Given the description of an element on the screen output the (x, y) to click on. 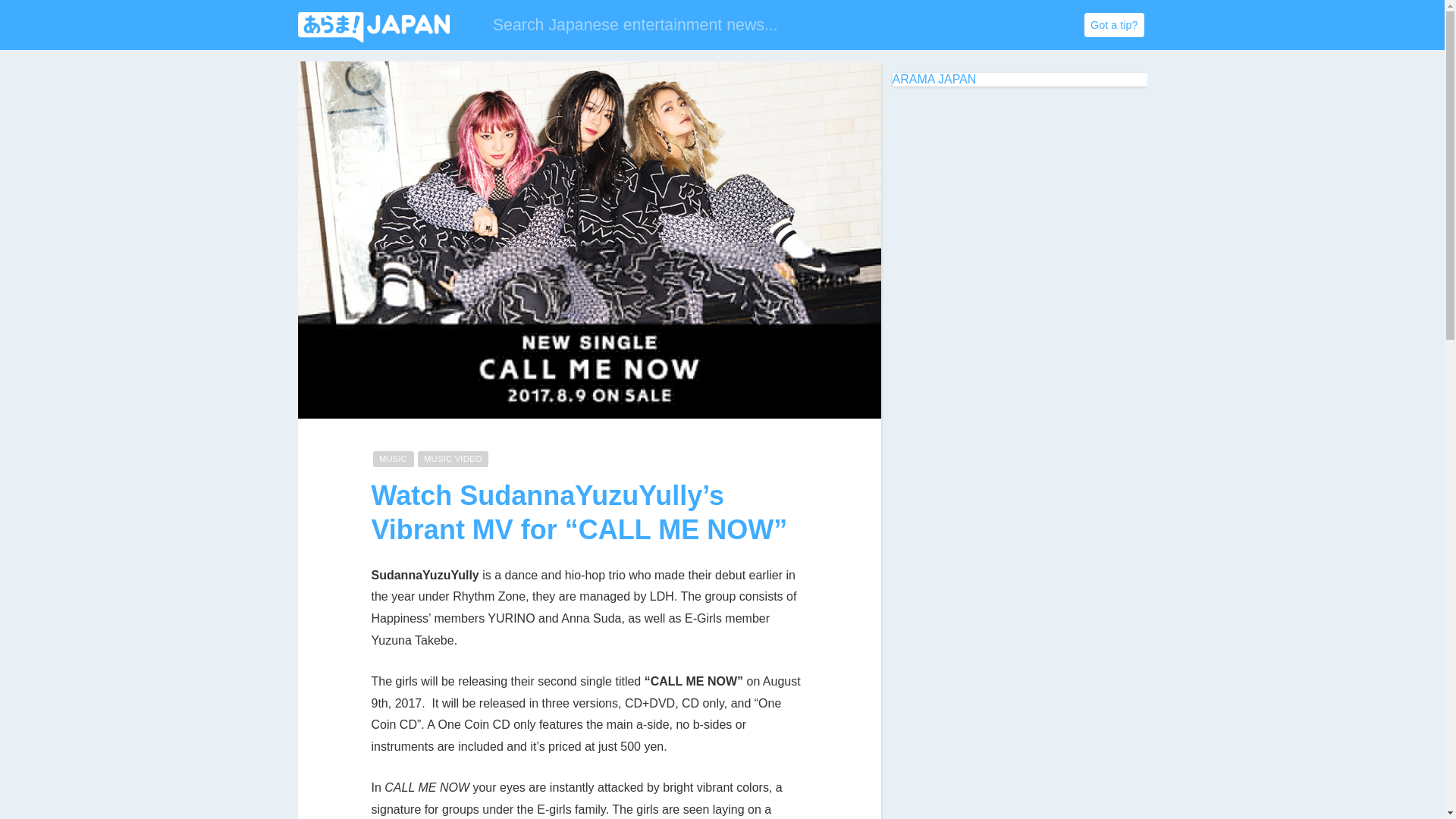
ARAMA! JAPAN Official Instagram (1035, 25)
ARAMA JAPAN (933, 78)
Facebook (974, 25)
MUSIC VIDEO (453, 458)
ARAMA! JAPAN Official Tumblr (1004, 25)
MUSIC (392, 458)
Twitter (944, 25)
ARAMA! JAPAN Official Twitter (944, 25)
Tumblr (1004, 25)
Instagram (1035, 25)
ARAMA! JAPAN - Tip Submission (1113, 24)
RSS (1066, 25)
Got a tip? (1113, 24)
ARAMA! JAPAN Official RSS Feed (1066, 25)
ARAMA! JAPAN Official Facebook (974, 25)
